Given the description of an element on the screen output the (x, y) to click on. 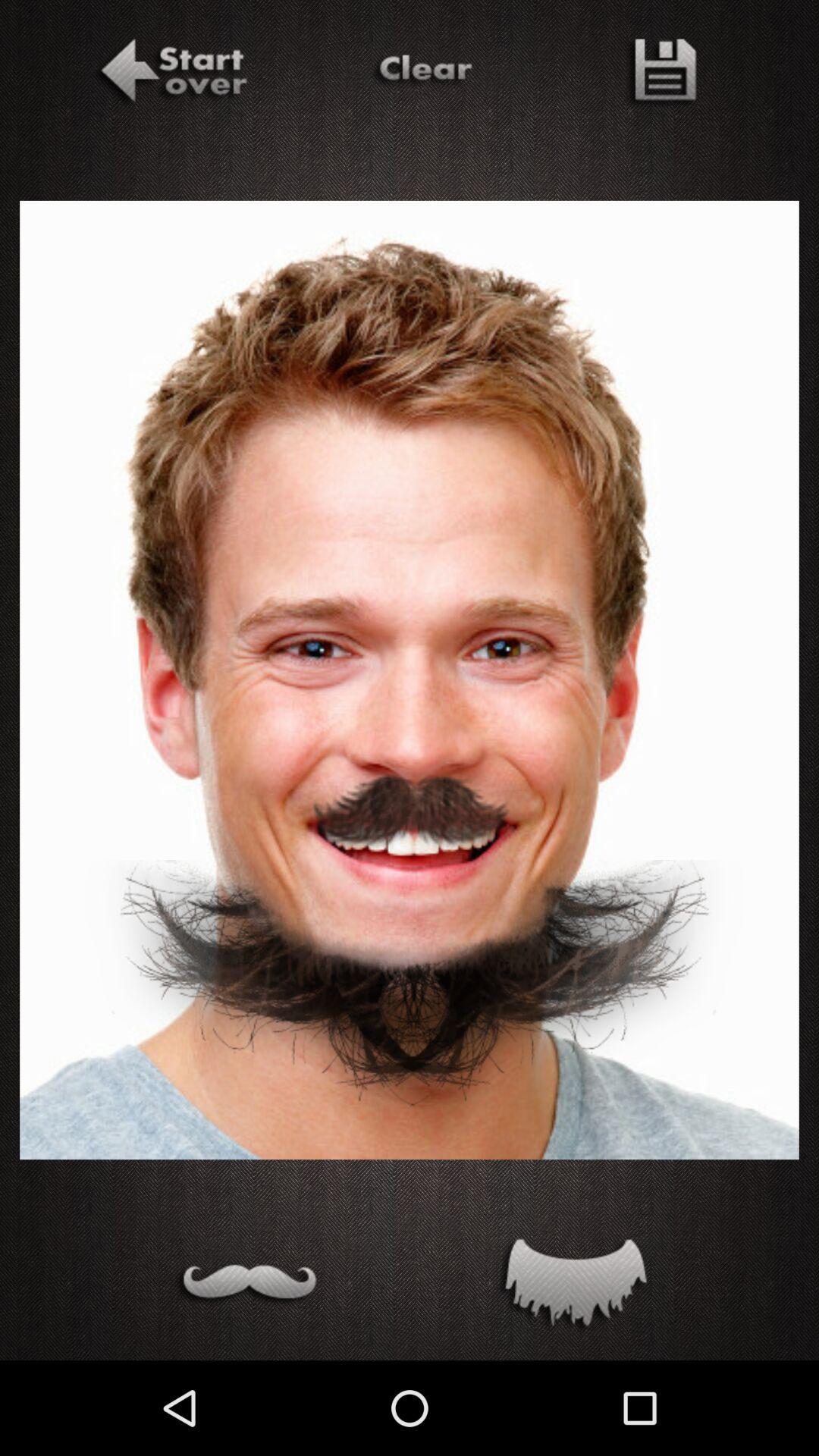
clear (422, 73)
